Given the description of an element on the screen output the (x, y) to click on. 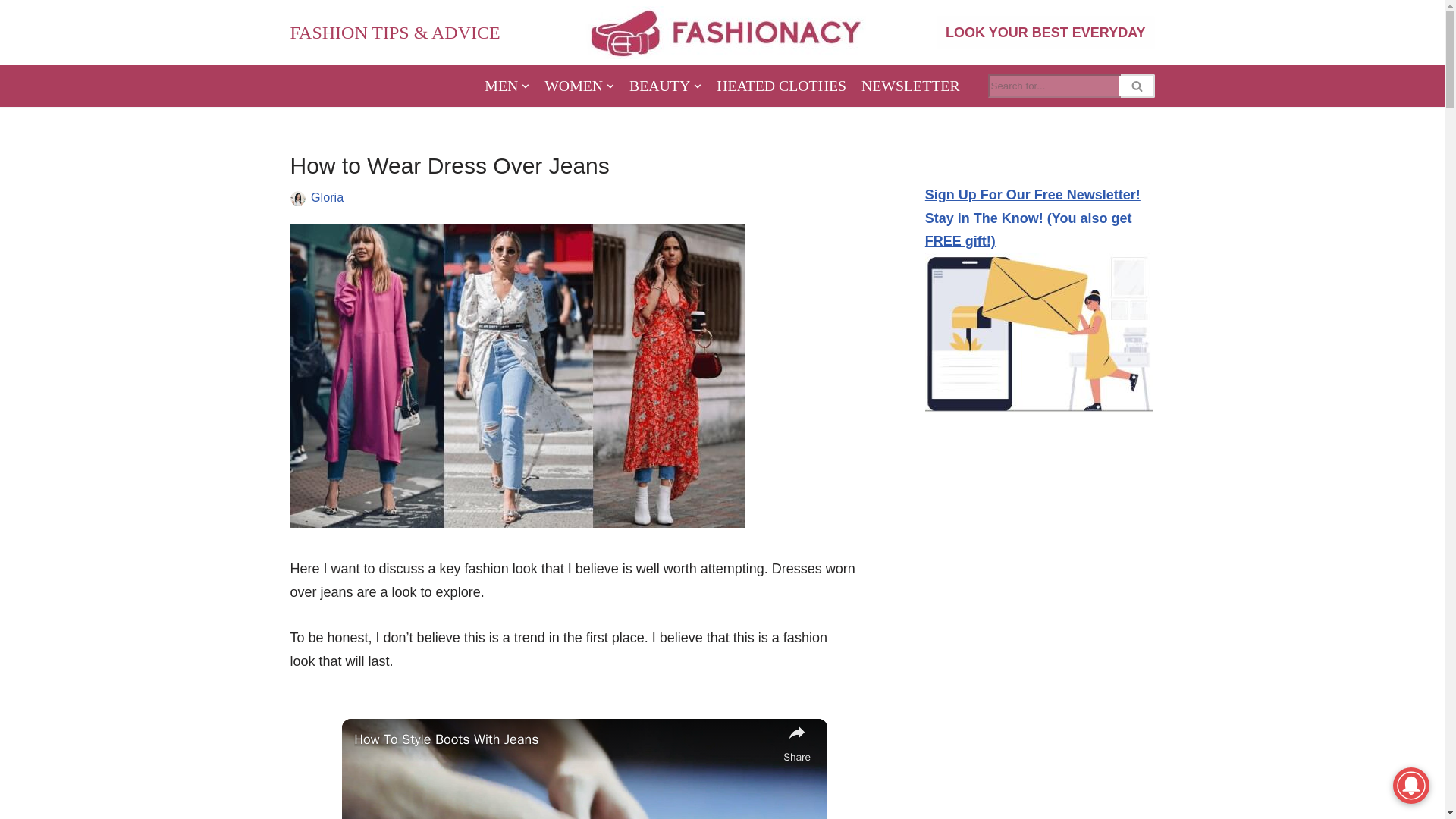
Posts by Gloria (327, 196)
MEN (506, 86)
WOMEN (579, 86)
BEAUTY (664, 86)
Skip to content (11, 31)
LOOK YOUR BEST EVERYDAY (1045, 32)
